Given the description of an element on the screen output the (x, y) to click on. 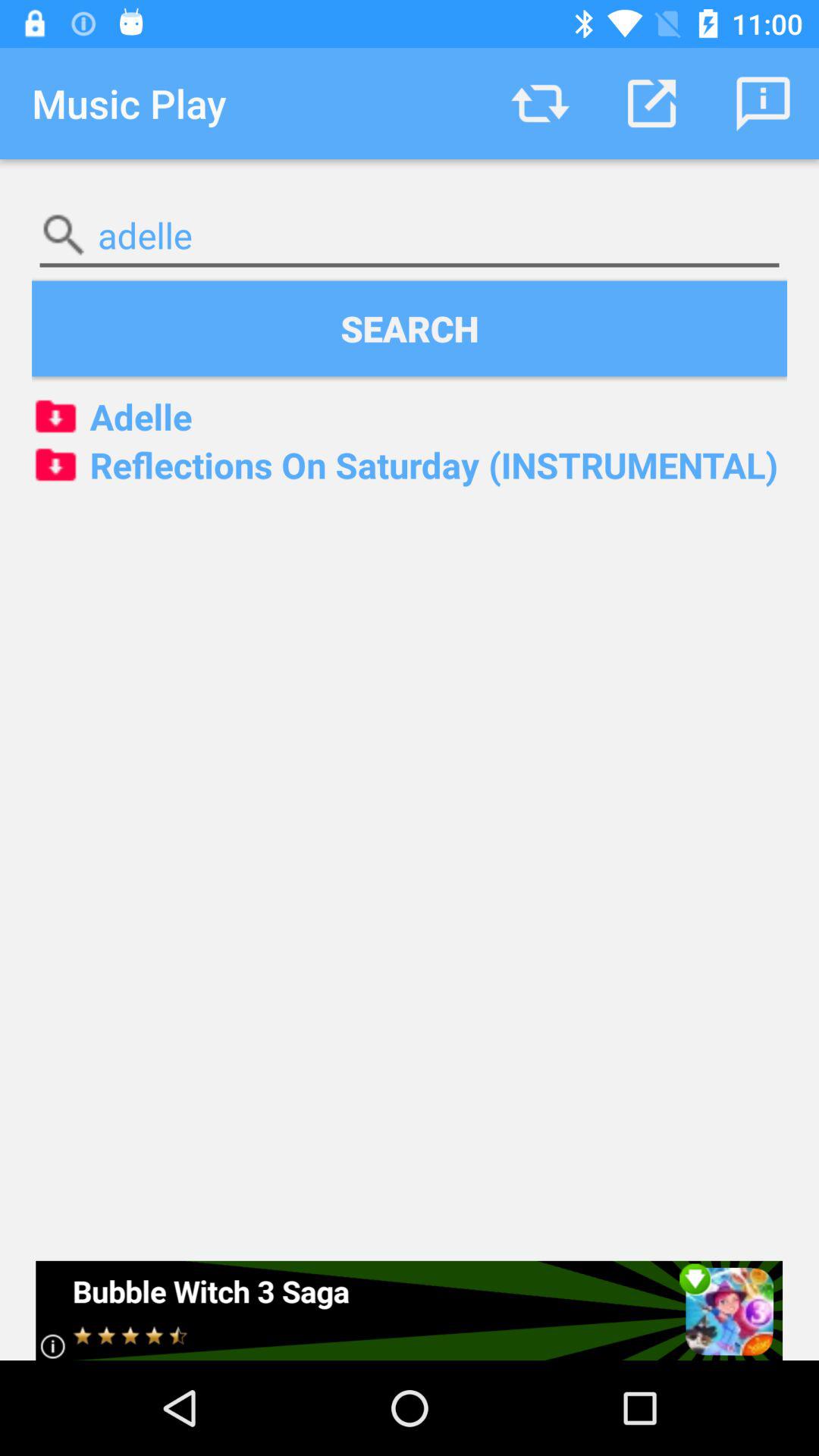
press the app next to the music play app (540, 103)
